Given the description of an element on the screen output the (x, y) to click on. 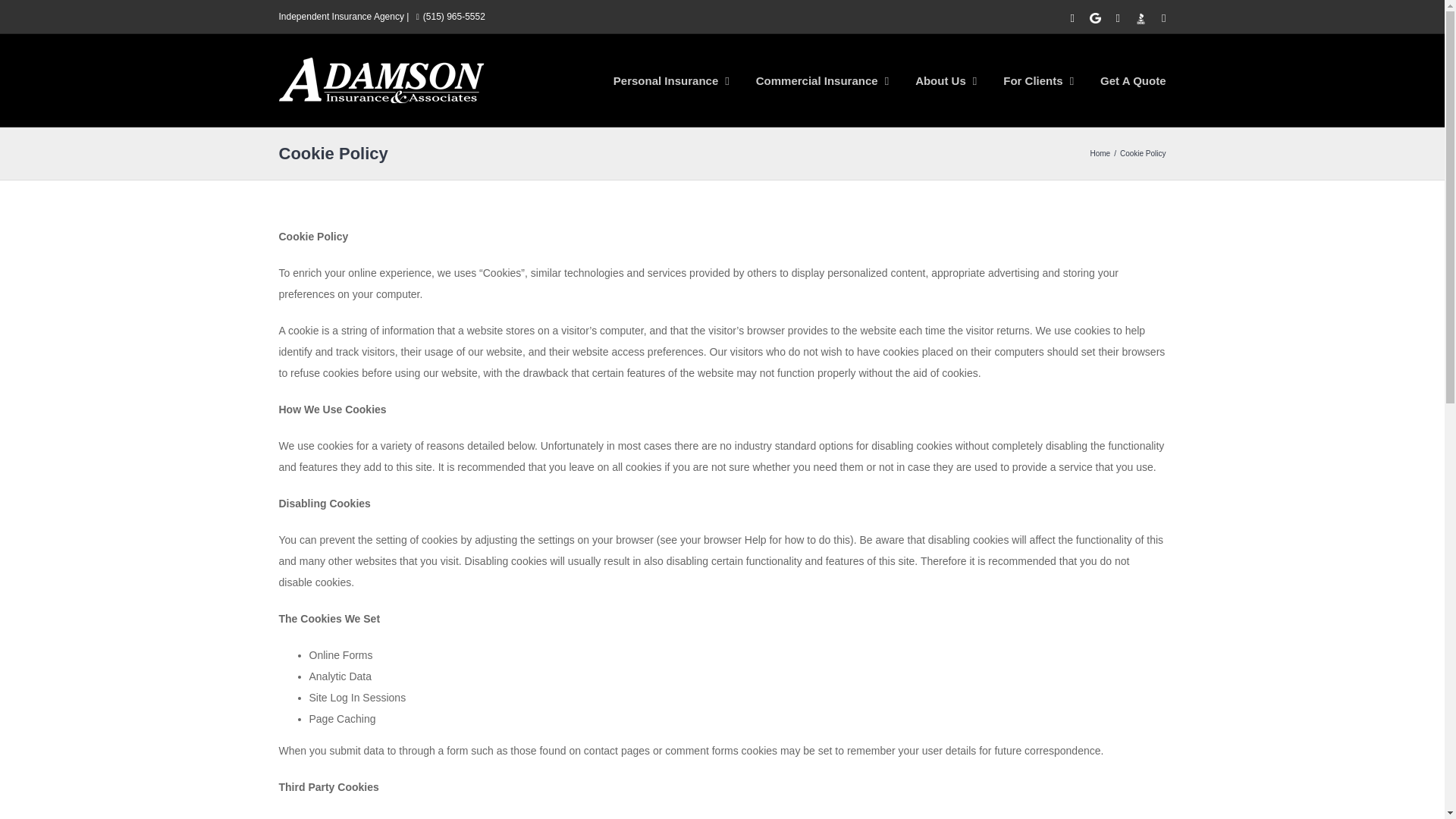
BBB (1141, 17)
BBB (1141, 17)
Personal Insurance (670, 80)
Google (1094, 17)
Google (1094, 17)
Commercial Insurance (821, 80)
